Given the description of an element on the screen output the (x, y) to click on. 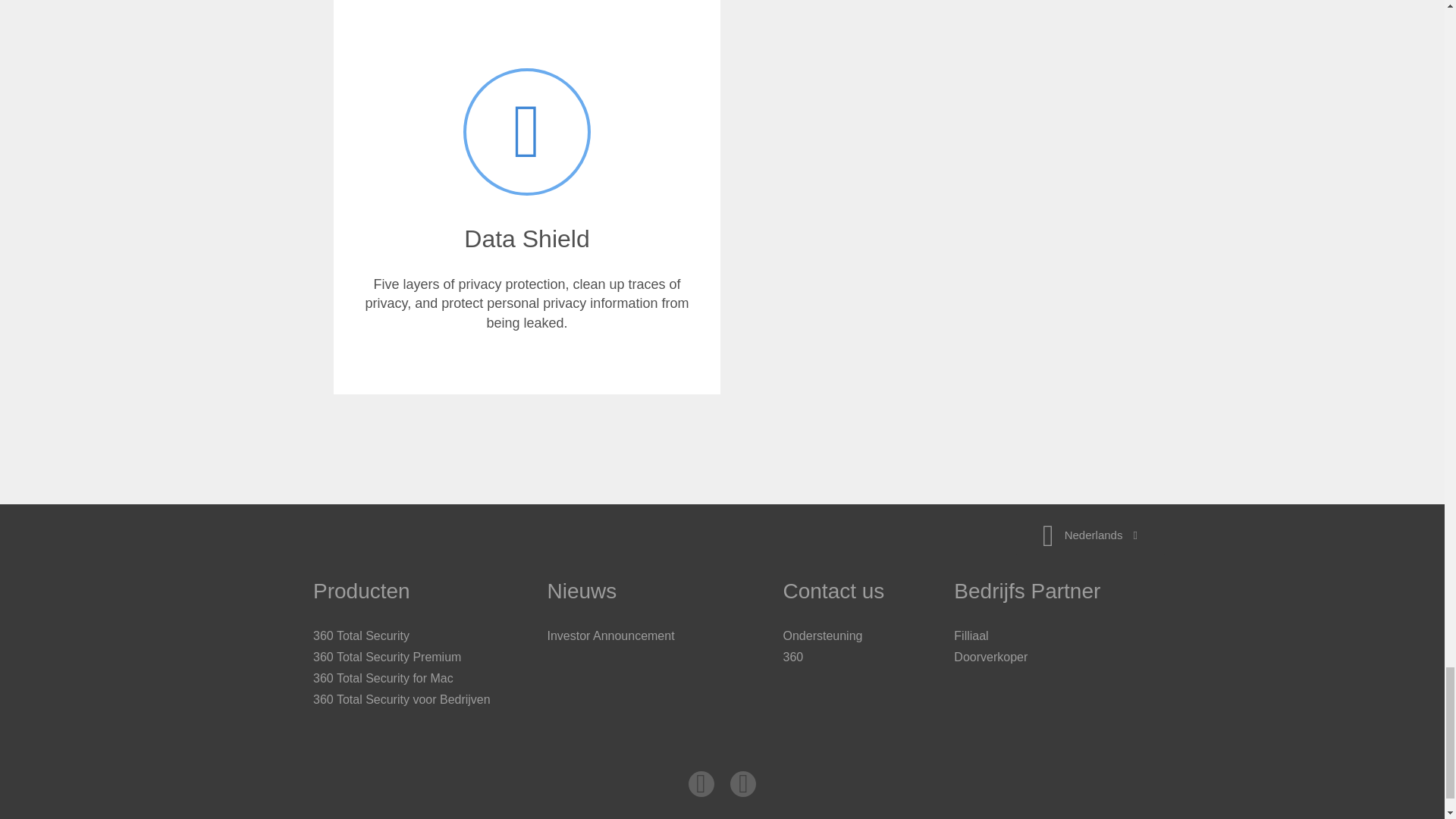
360 Total Security (361, 635)
360 Total Security Premium (387, 656)
Nederlands (1090, 535)
